Given the description of an element on the screen output the (x, y) to click on. 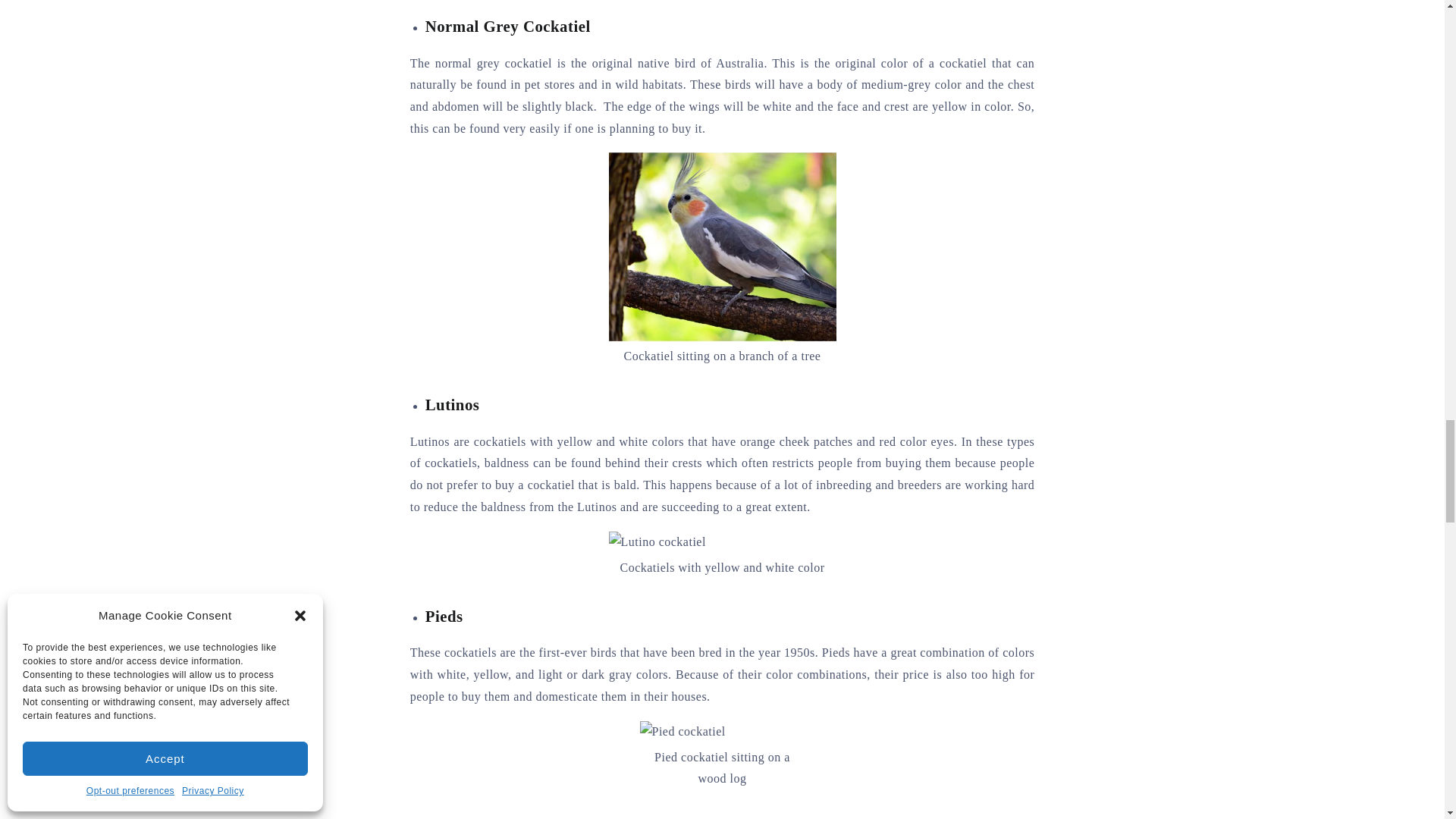
Cockatiel - Erakina 4 (656, 542)
Cockatiel - Erakina 5 (682, 731)
Cockatiel - Erakina 3 (721, 247)
